Given the description of an element on the screen output the (x, y) to click on. 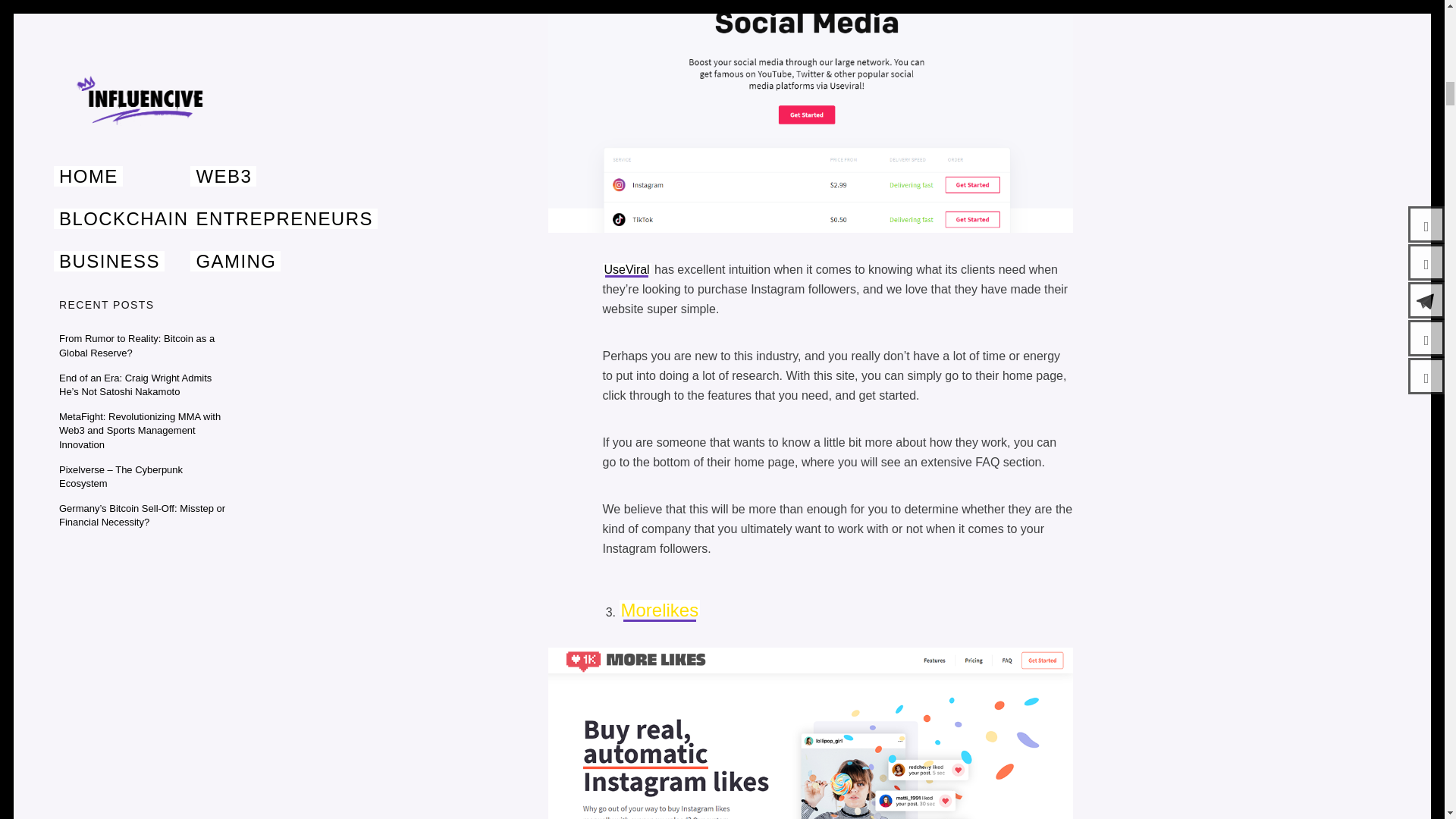
Morelikes (659, 609)
UseViral (626, 269)
